Given the description of an element on the screen output the (x, y) to click on. 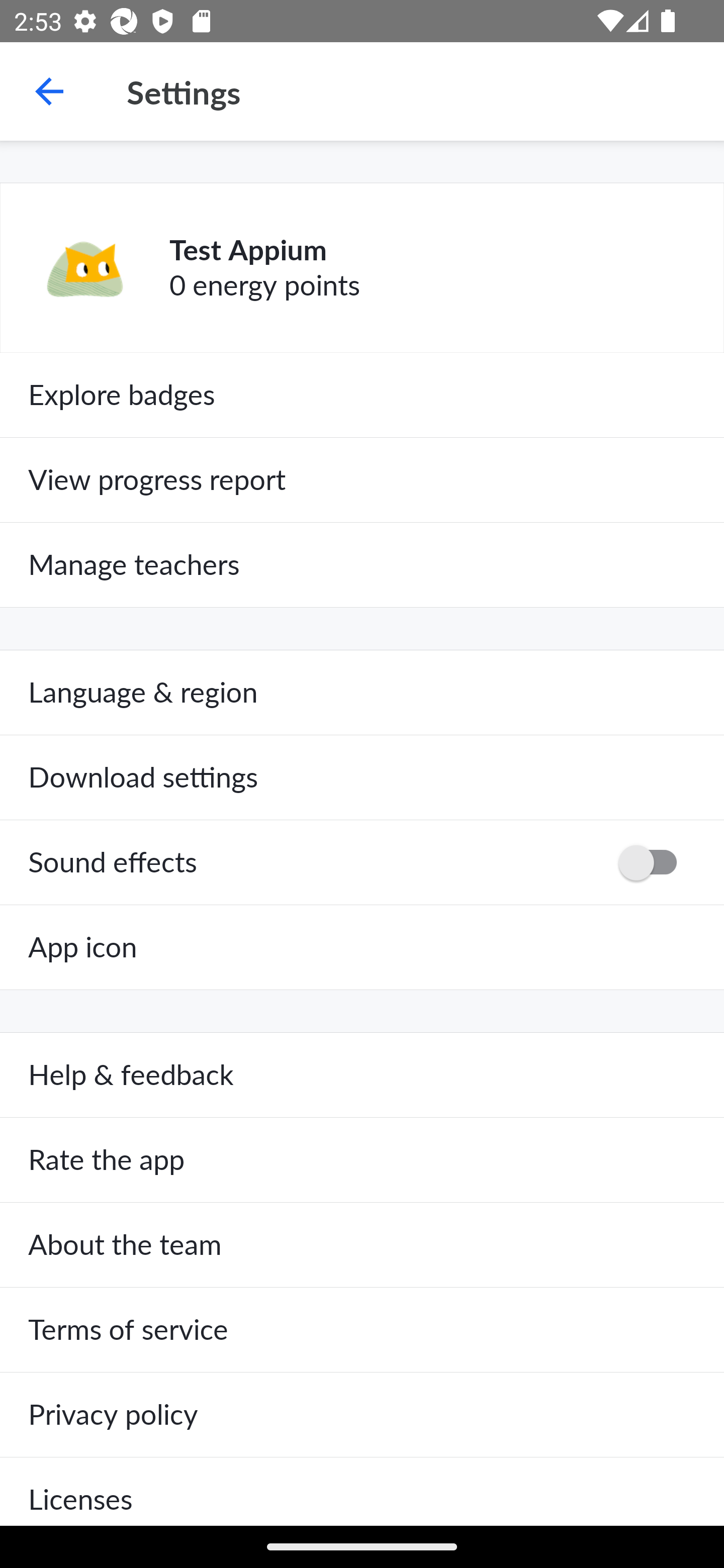
Navigate up (49, 91)
Explore badges (362, 394)
View progress report (362, 479)
Manage teachers (362, 565)
Language & region (362, 692)
Download settings (362, 777)
OFF (653, 861)
App icon (362, 946)
Help & feedback (362, 1075)
Rate the app (362, 1159)
About the team (362, 1244)
Terms of service (362, 1329)
Privacy policy (362, 1414)
Licenses (362, 1490)
